Given the description of an element on the screen output the (x, y) to click on. 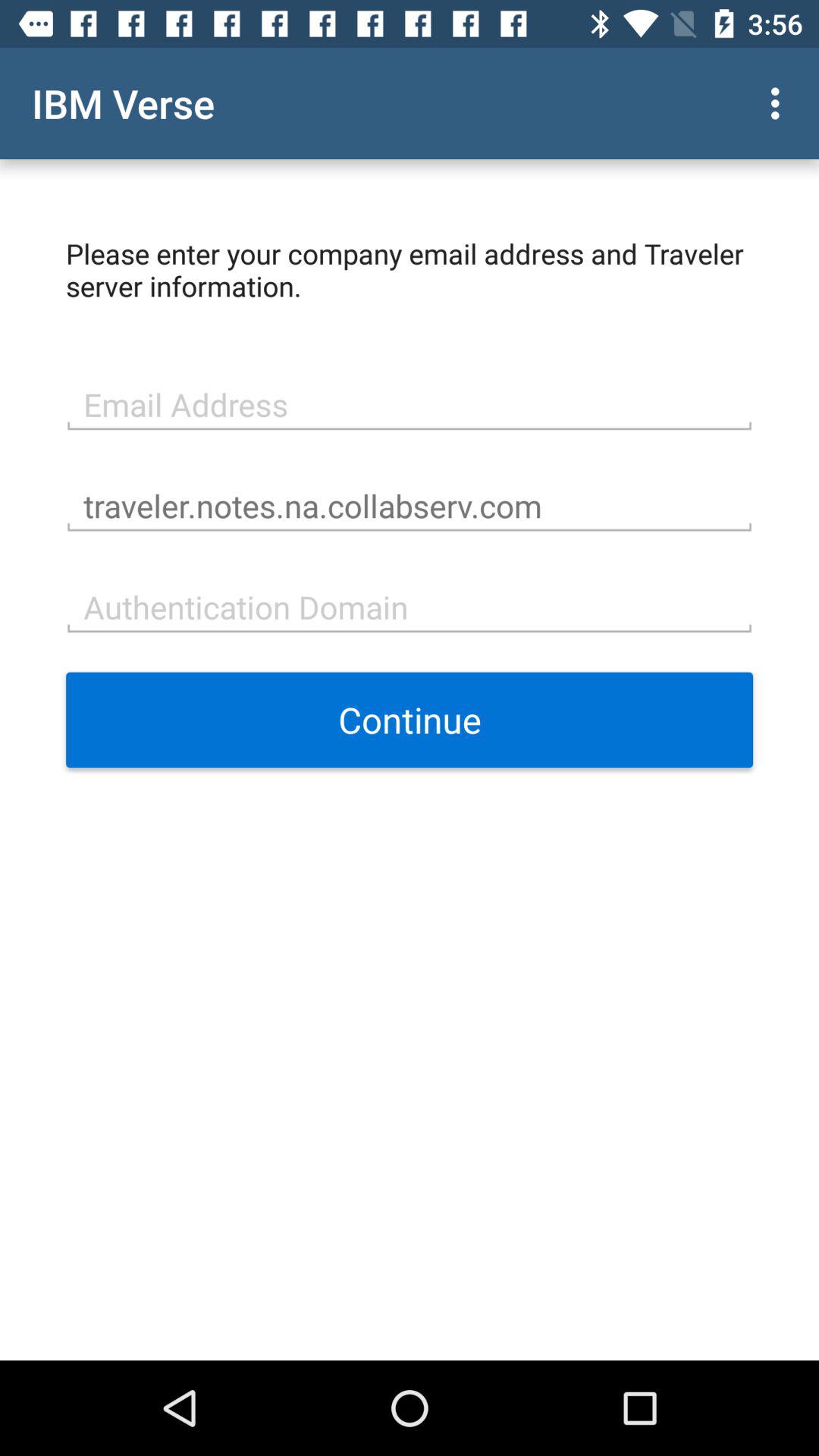
tap the icon next to ibm verse icon (779, 103)
